Given the description of an element on the screen output the (x, y) to click on. 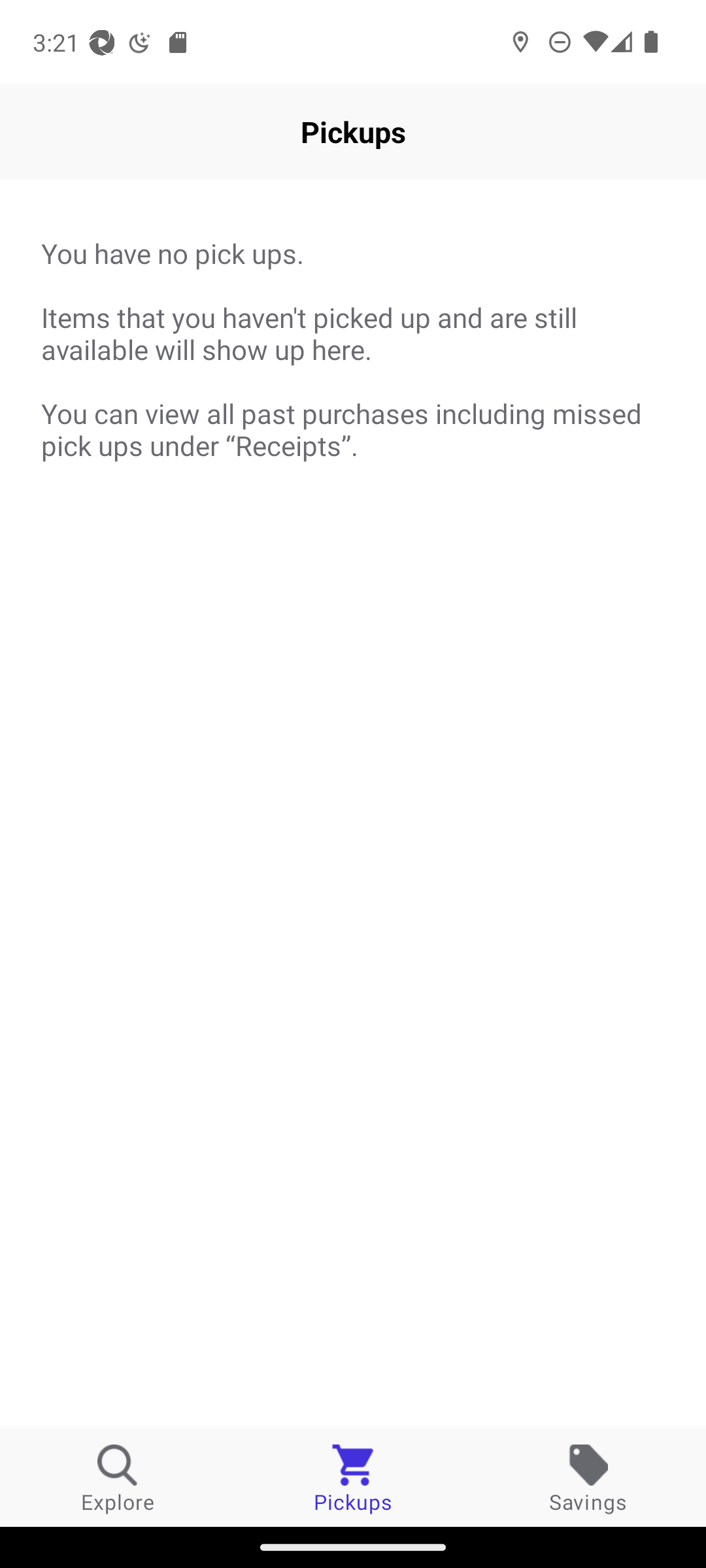
Explore (117, 1478)
Savings (588, 1478)
